Given the description of an element on the screen output the (x, y) to click on. 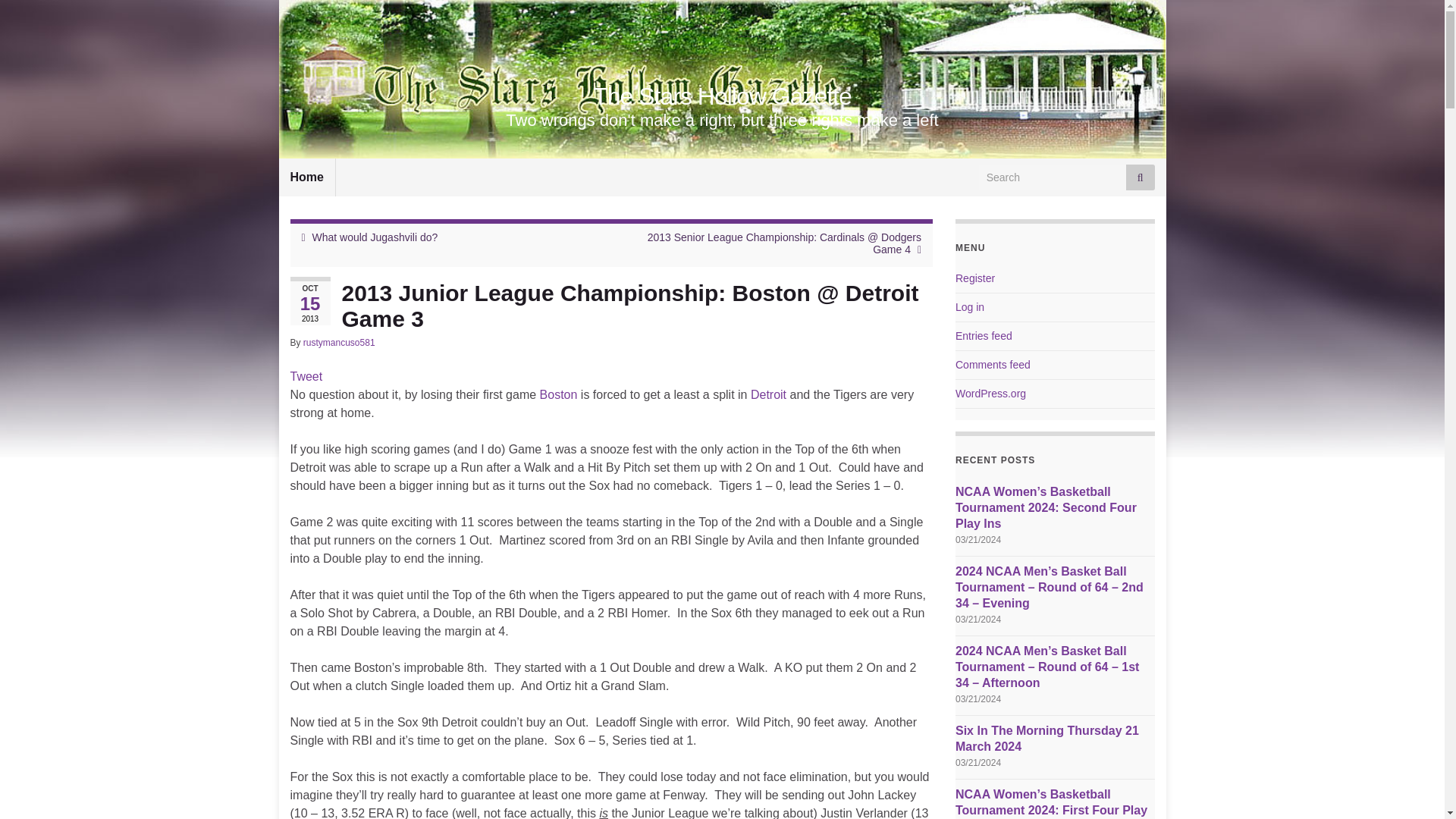
Go back to the front page (721, 95)
What would Jugashvili do? (375, 236)
The Stars Hollow Gazette (721, 95)
Detroit (768, 394)
Tweet (305, 376)
rustymancuso581 (338, 342)
Boston (559, 394)
Home (306, 177)
